Given the description of an element on the screen output the (x, y) to click on. 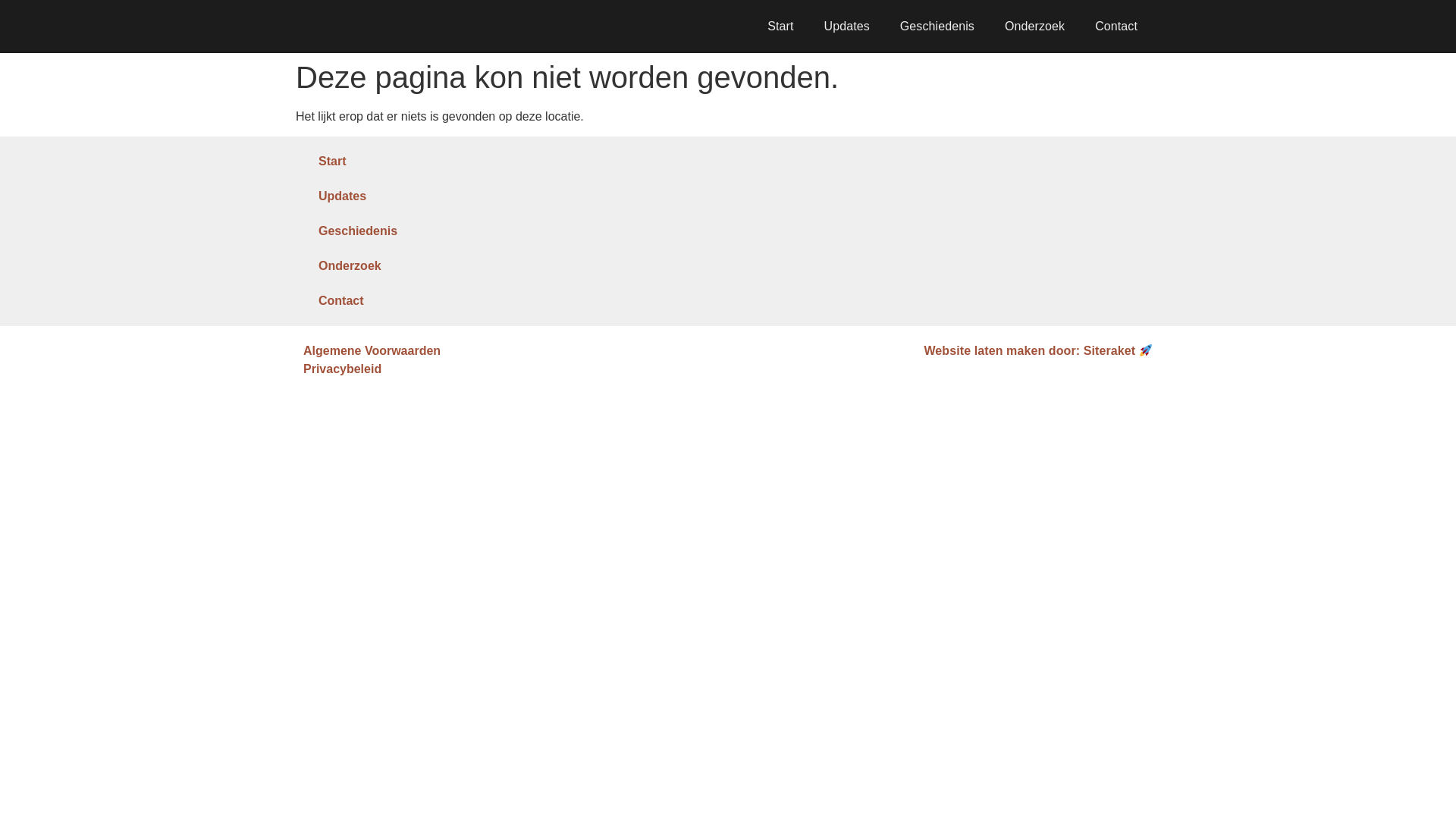
Onderzoek (439, 265)
Start (439, 161)
Updates (439, 196)
Contact (439, 300)
Onderzoek (1035, 26)
Contact (1116, 26)
Updates (847, 26)
Algemene Voorwaarden (511, 351)
Website laten maken door: Siteraket (1038, 350)
Geschiedenis (937, 26)
Geschiedenis (439, 230)
Start (780, 26)
Privacybeleid (511, 369)
